Given the description of an element on the screen output the (x, y) to click on. 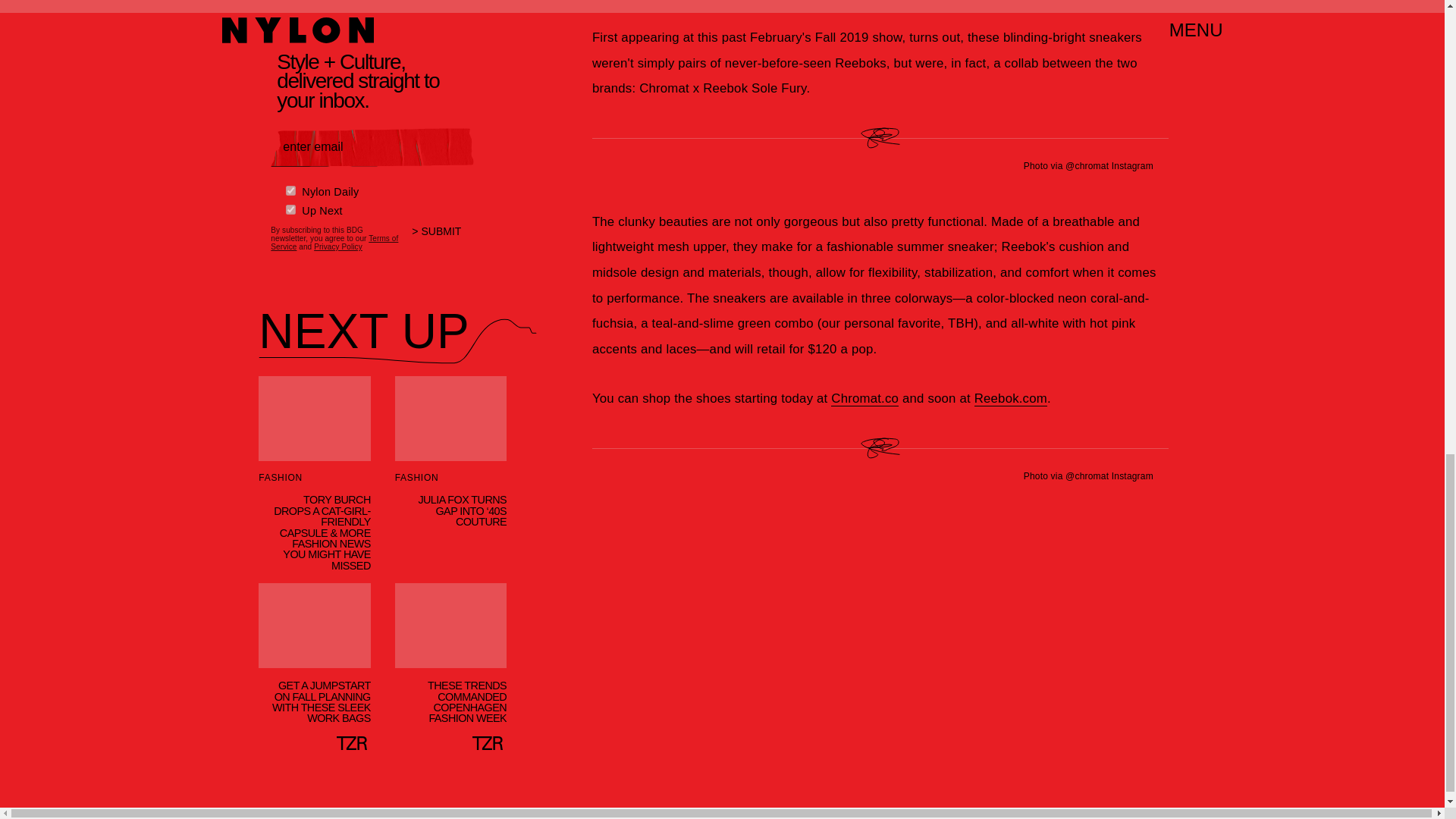
SUBMIT (443, 237)
Privacy Policy (338, 245)
Chromat.co (864, 398)
Terms of Service (333, 240)
Reebok.com (1010, 398)
